Given the description of an element on the screen output the (x, y) to click on. 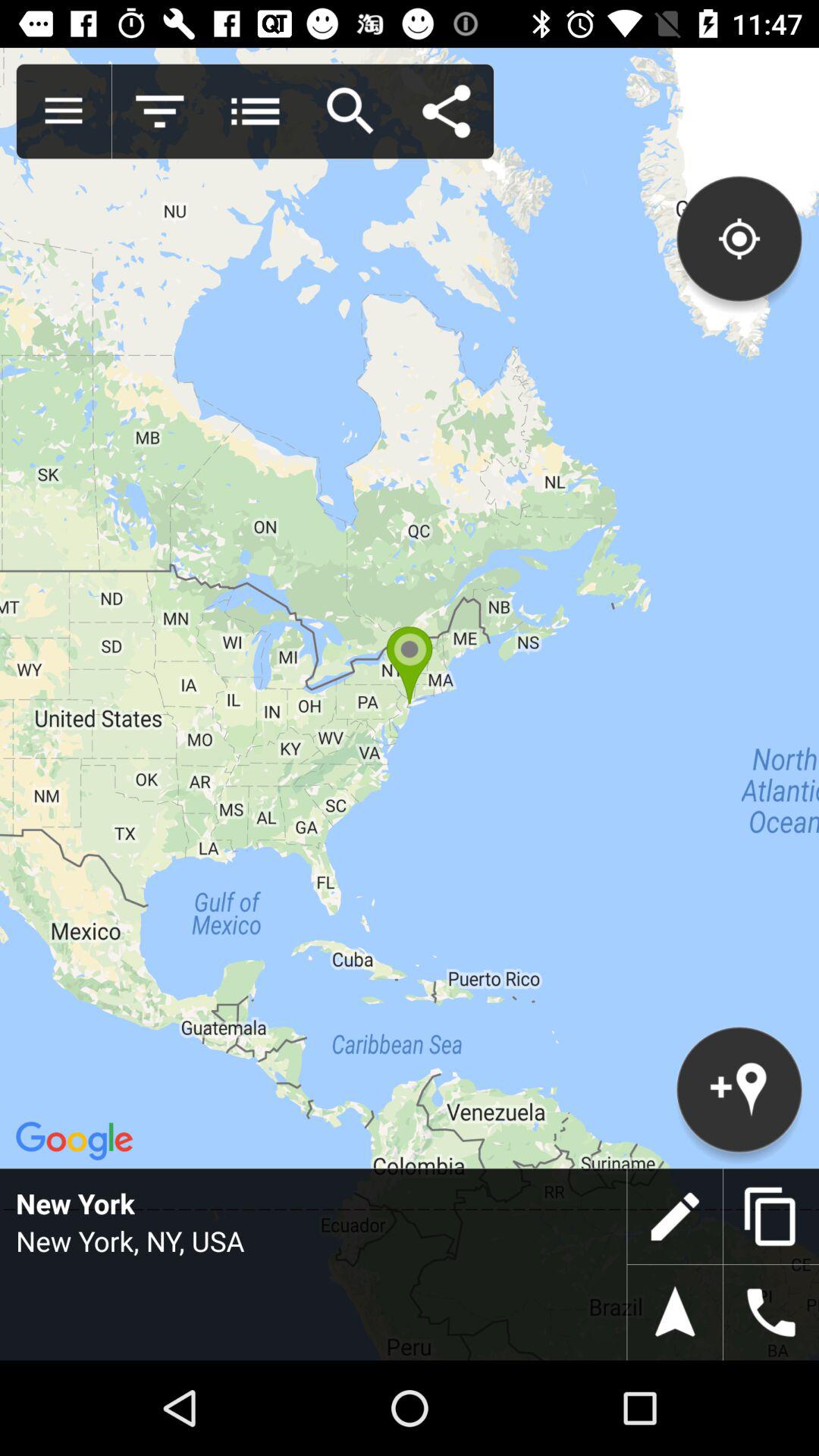
menu dropdown (255, 111)
